Given the description of an element on the screen output the (x, y) to click on. 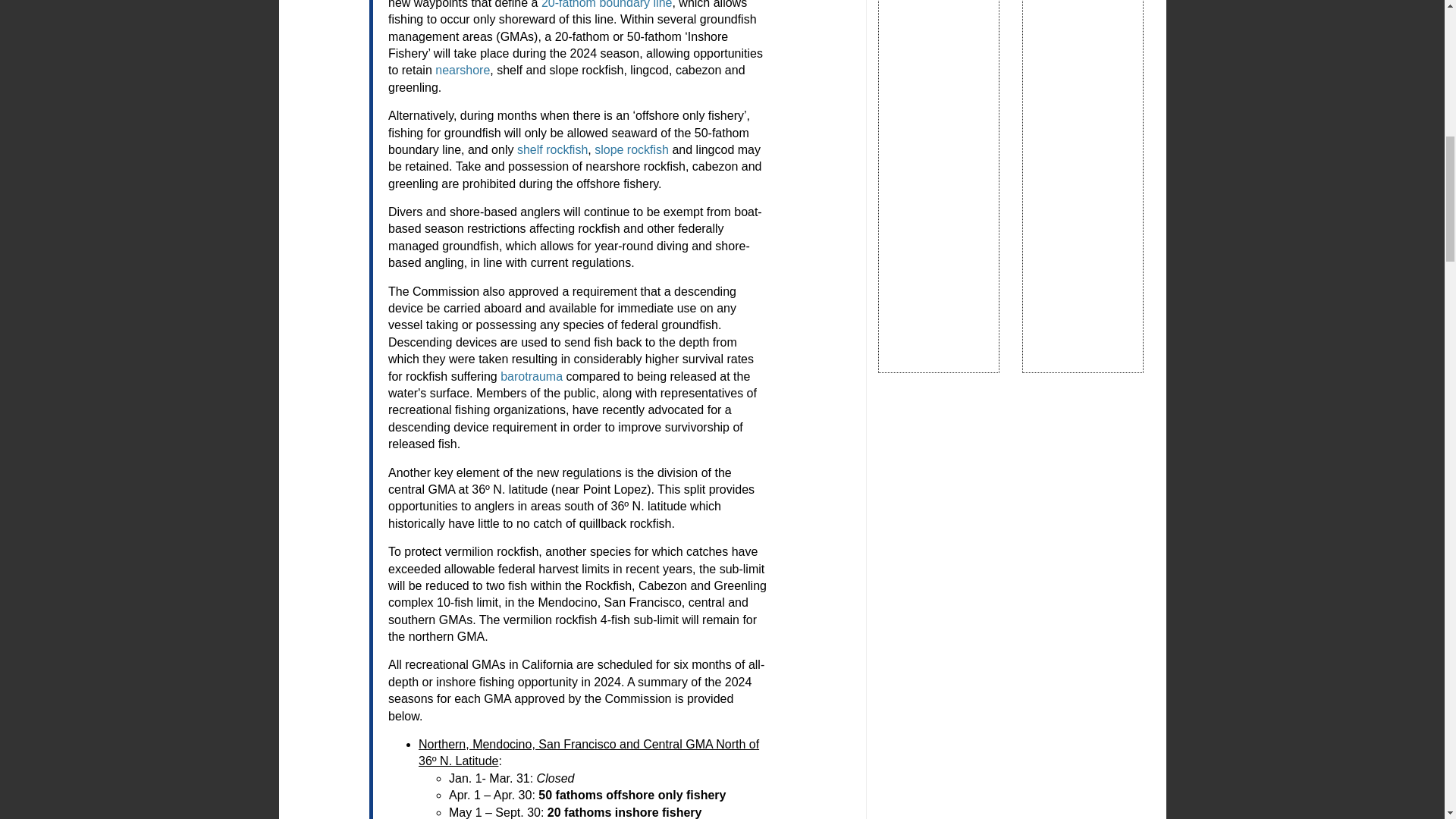
slope rockfish (631, 149)
shelf rockfish (552, 149)
nearshore (462, 69)
20-fathom boundary line (606, 4)
barotrauma (531, 376)
